Given the description of an element on the screen output the (x, y) to click on. 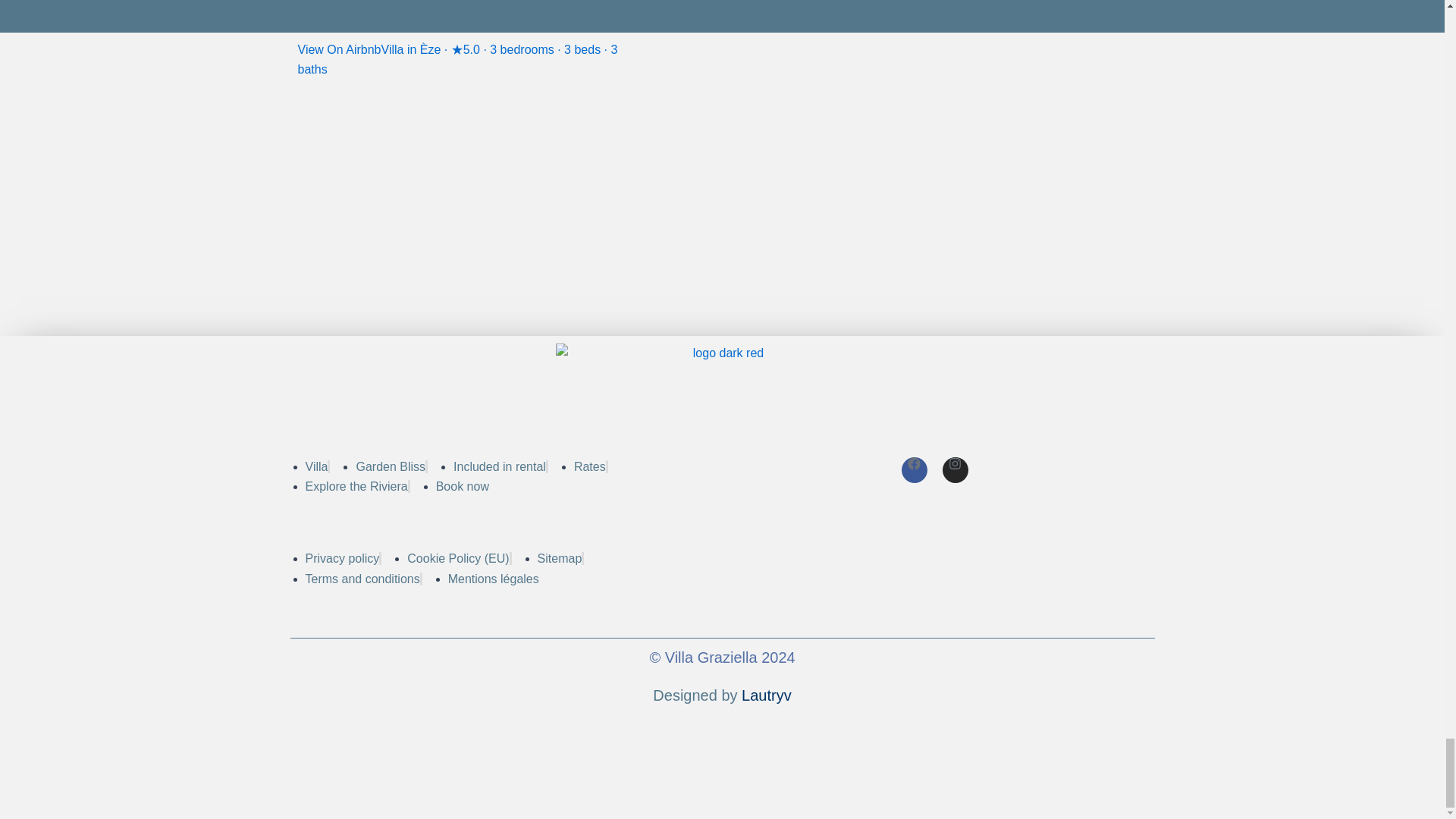
Sitemap (559, 558)
Lautryv (766, 695)
Included in rental (499, 466)
Villa (315, 466)
View On Airbnb (338, 49)
Privacy policy (341, 558)
Book now (462, 486)
Facebook (913, 470)
Instagram (955, 470)
Explore the Riviera (355, 486)
Terms and conditions (361, 578)
Garden Bliss (390, 466)
Rates (589, 466)
